Given the description of an element on the screen output the (x, y) to click on. 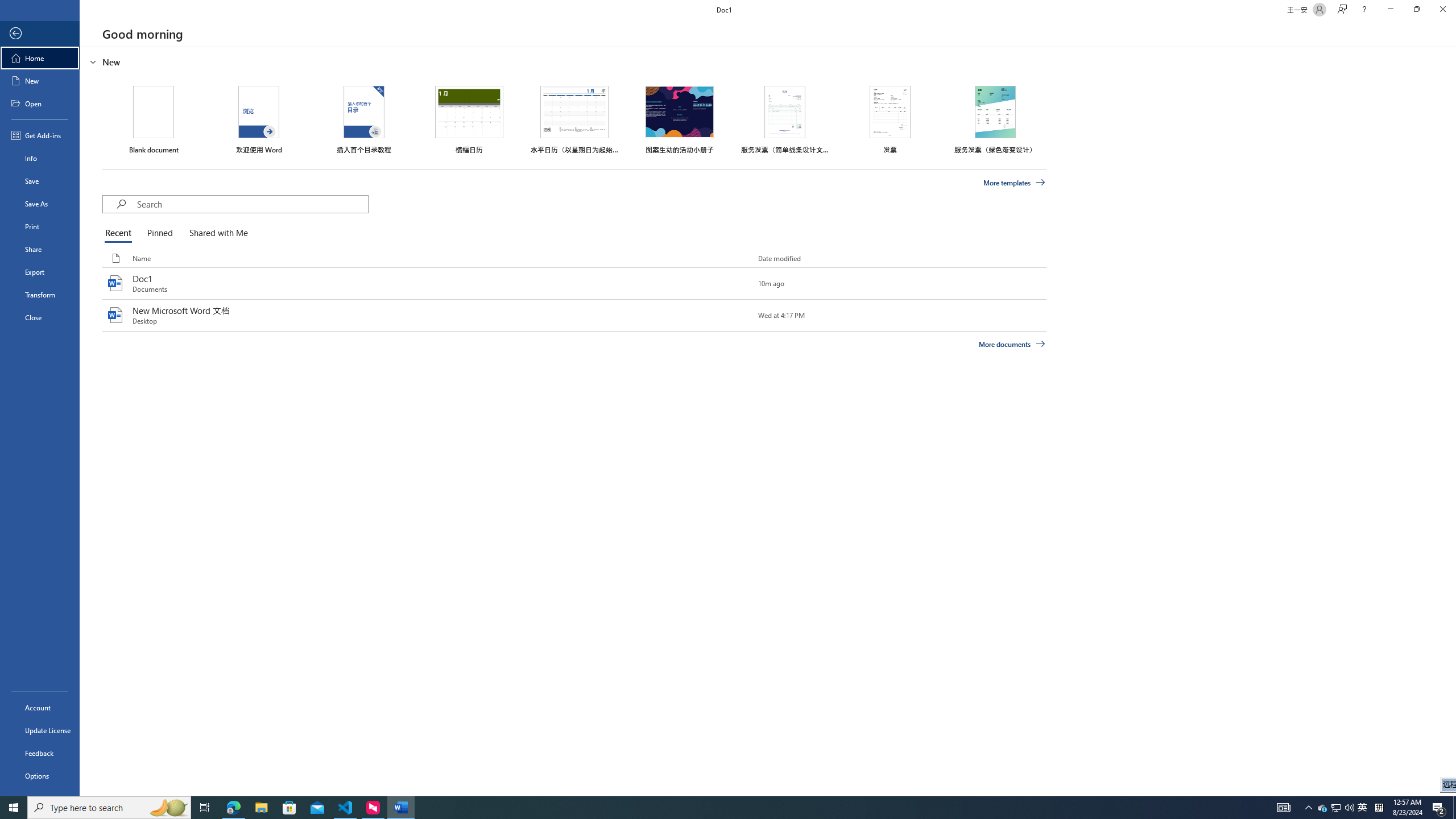
Pinned (159, 233)
Doc1 (573, 283)
More templates (1014, 182)
Search (252, 203)
Save As (40, 203)
Export (40, 271)
New (40, 80)
Help (1364, 9)
Blank document (153, 119)
Account (40, 707)
Info (40, 157)
